Given the description of an element on the screen output the (x, y) to click on. 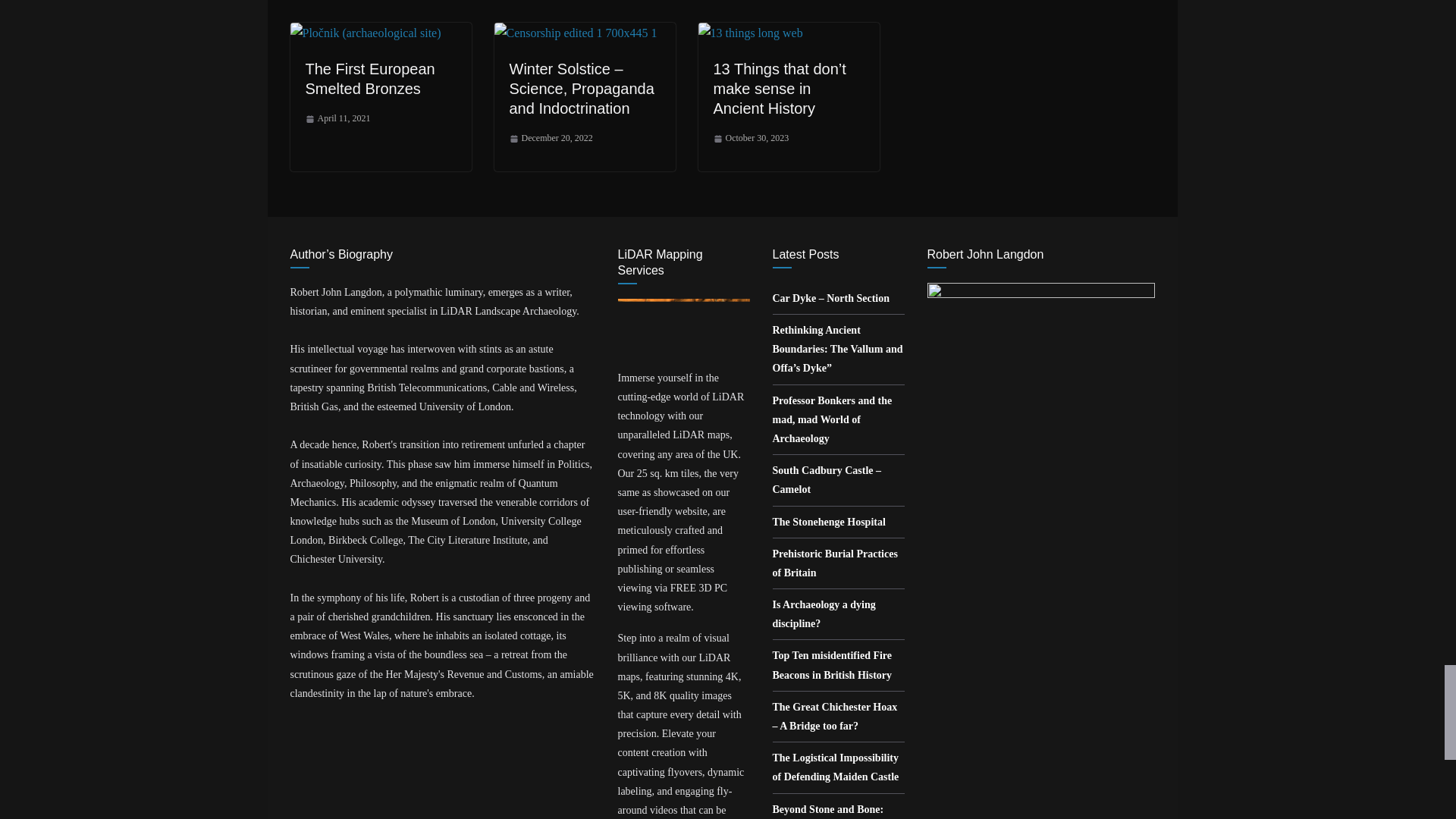
The First European Smelted Bronzes (368, 78)
April 11, 2021 (336, 118)
The First European Smelted Bronzes 9 (365, 33)
The First European Smelted Bronzes (365, 32)
